Given the description of an element on the screen output the (x, y) to click on. 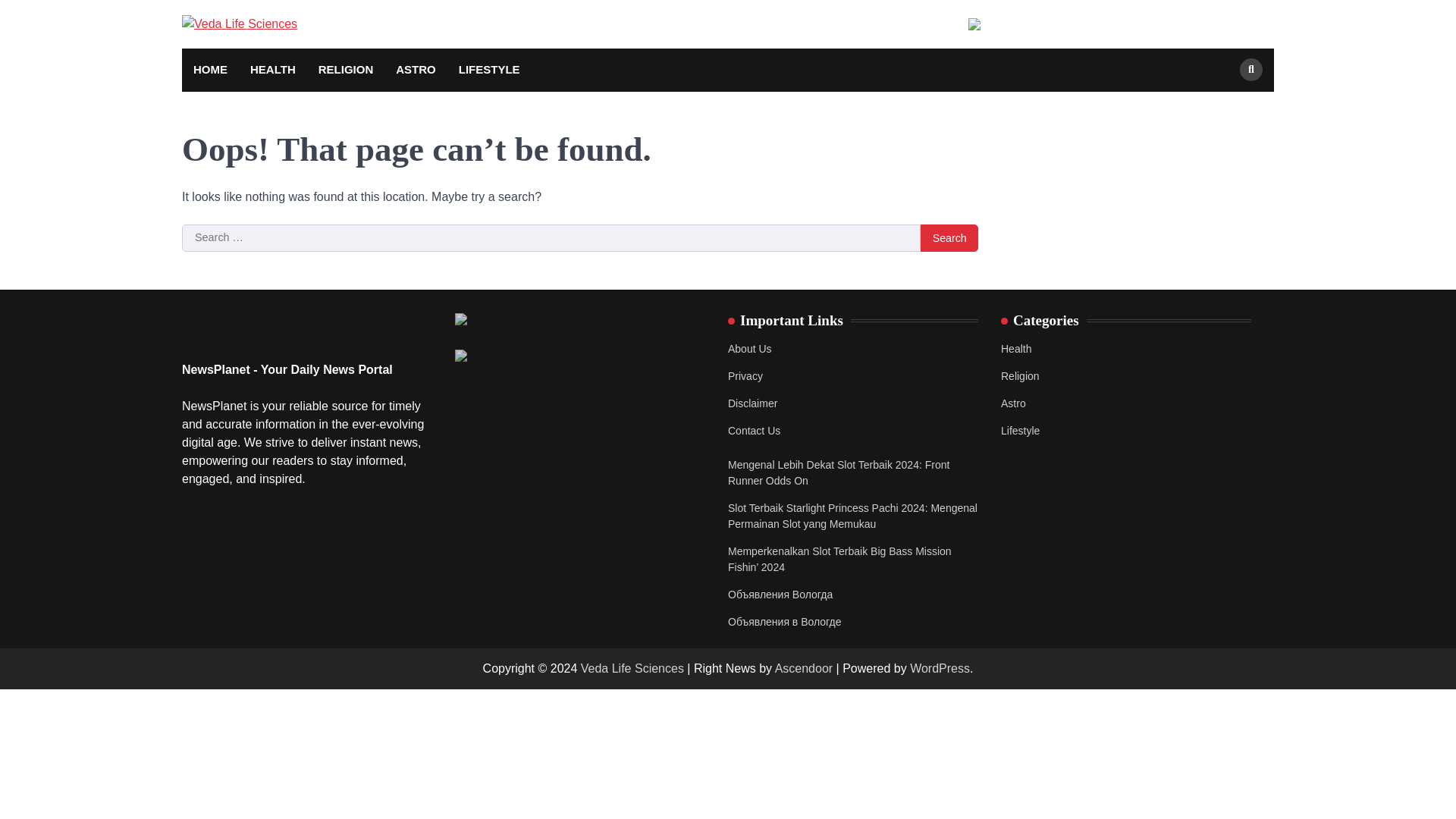
Mengenal Lebih Dekat Slot Terbaik 2024: Front Runner Odds On (838, 472)
Ascendoor (803, 667)
Contact Us (754, 430)
WordPress (939, 667)
HOME (210, 69)
Search (1251, 69)
Privacy (745, 376)
Religion (1020, 376)
HEALTH (272, 69)
Search (949, 237)
